Given the description of an element on the screen output the (x, y) to click on. 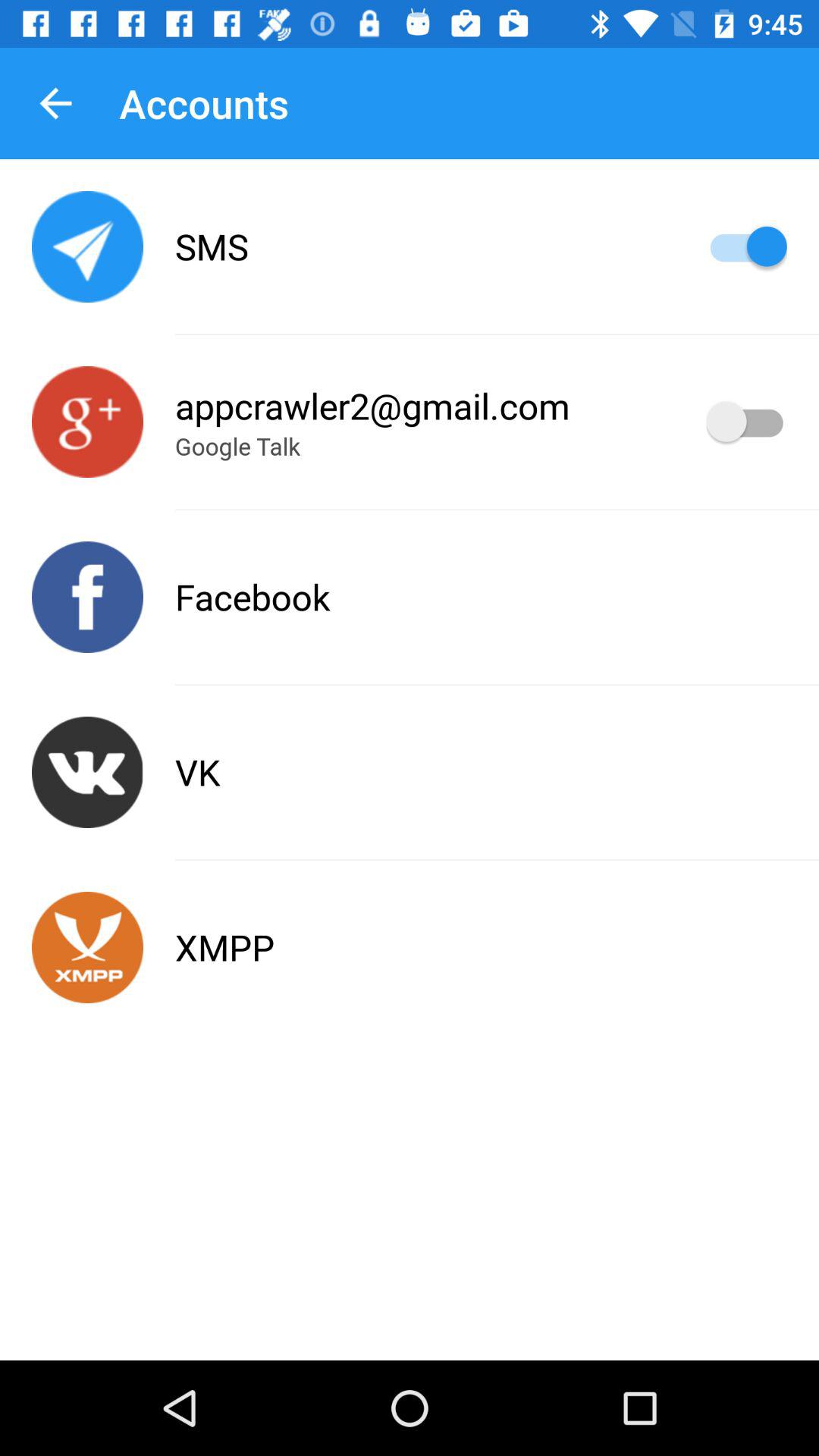
switch to google talk (87, 421)
